Given the description of an element on the screen output the (x, y) to click on. 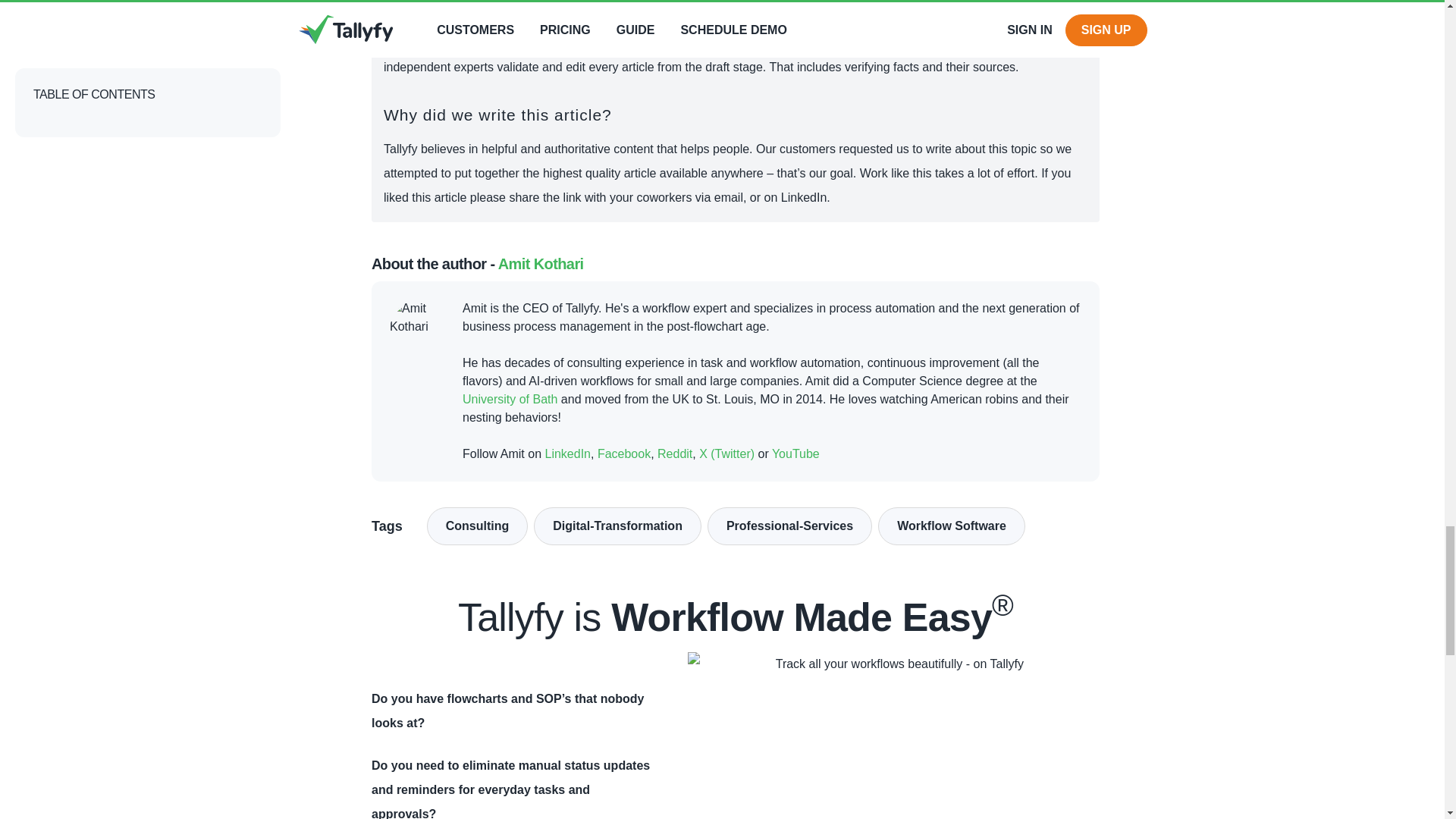
Consulting (477, 525)
Digital-Transformation (617, 525)
Facebook (623, 454)
LinkedIn (567, 454)
University of Bath (510, 400)
Workflow Software (951, 525)
Reddit (675, 454)
YouTube (795, 454)
Amit Kothari (540, 264)
Professional-Services (789, 525)
